Given the description of an element on the screen output the (x, y) to click on. 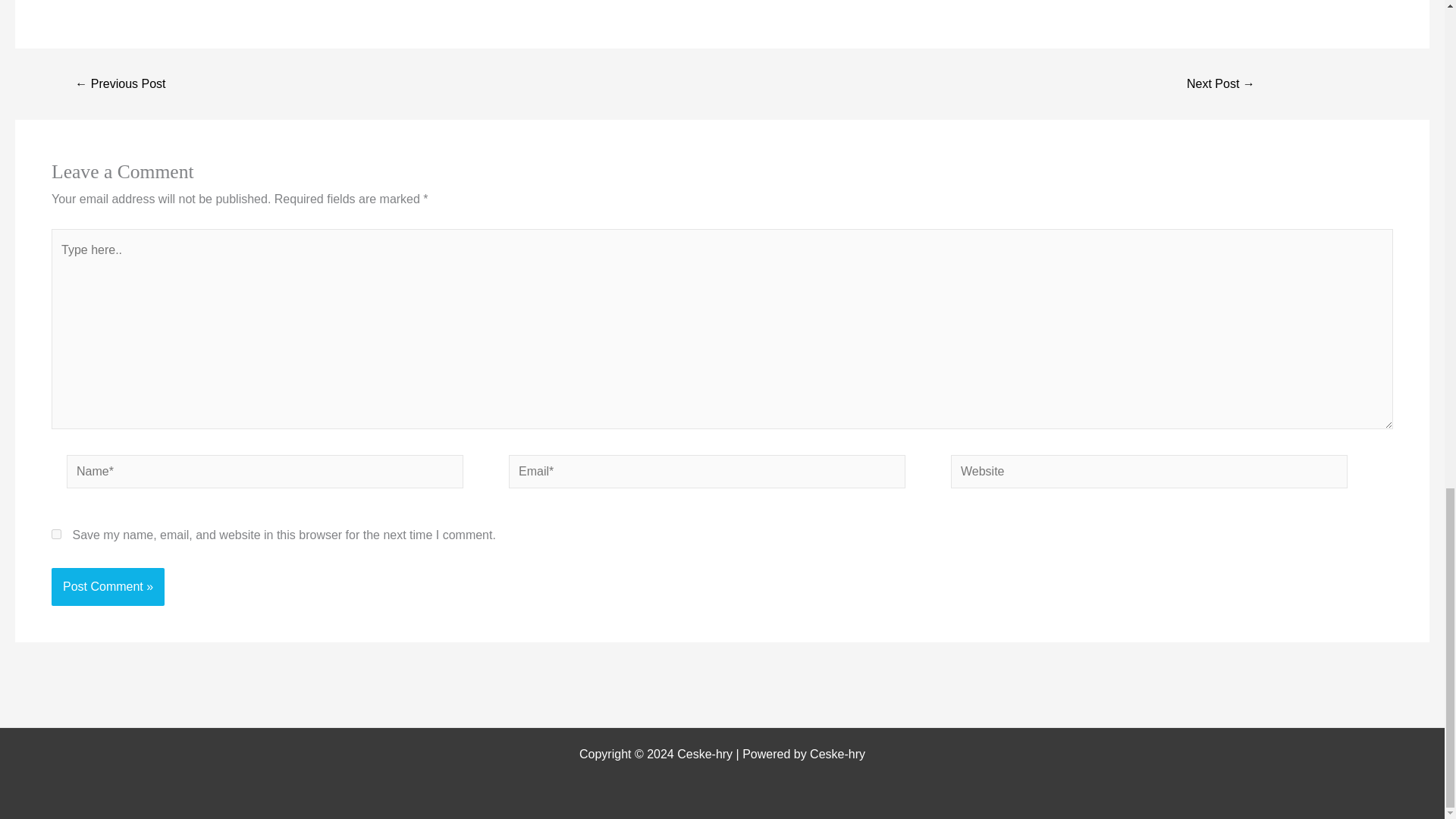
Will Surrey Lofts make your process simpler? (119, 83)
yes (55, 533)
